Given the description of an element on the screen output the (x, y) to click on. 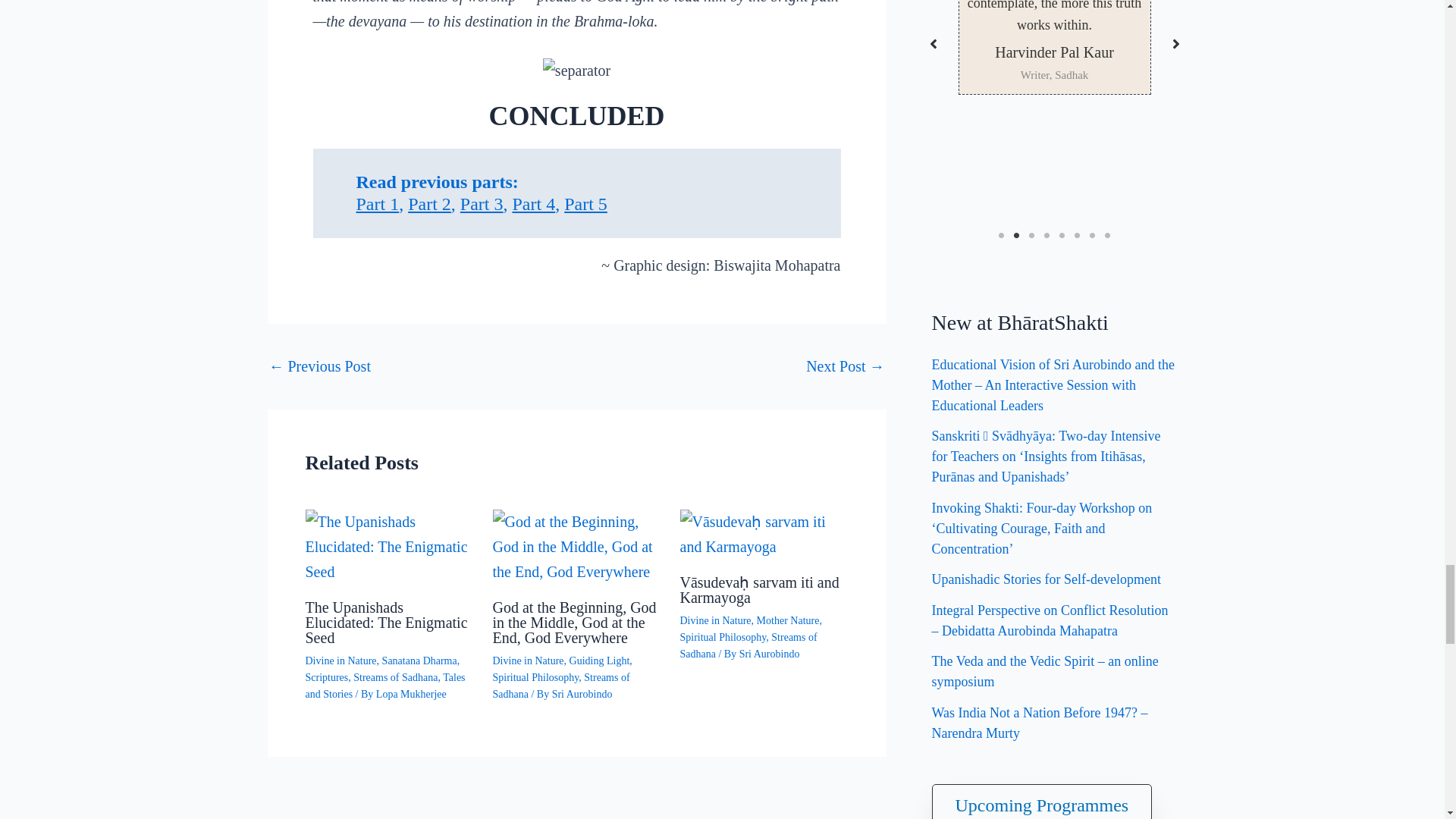
View all posts by Sri Aurobindo (769, 654)
View all posts by Sri Aurobindo (581, 694)
View all posts by Lopa Mukherjee (410, 694)
